Given the description of an element on the screen output the (x, y) to click on. 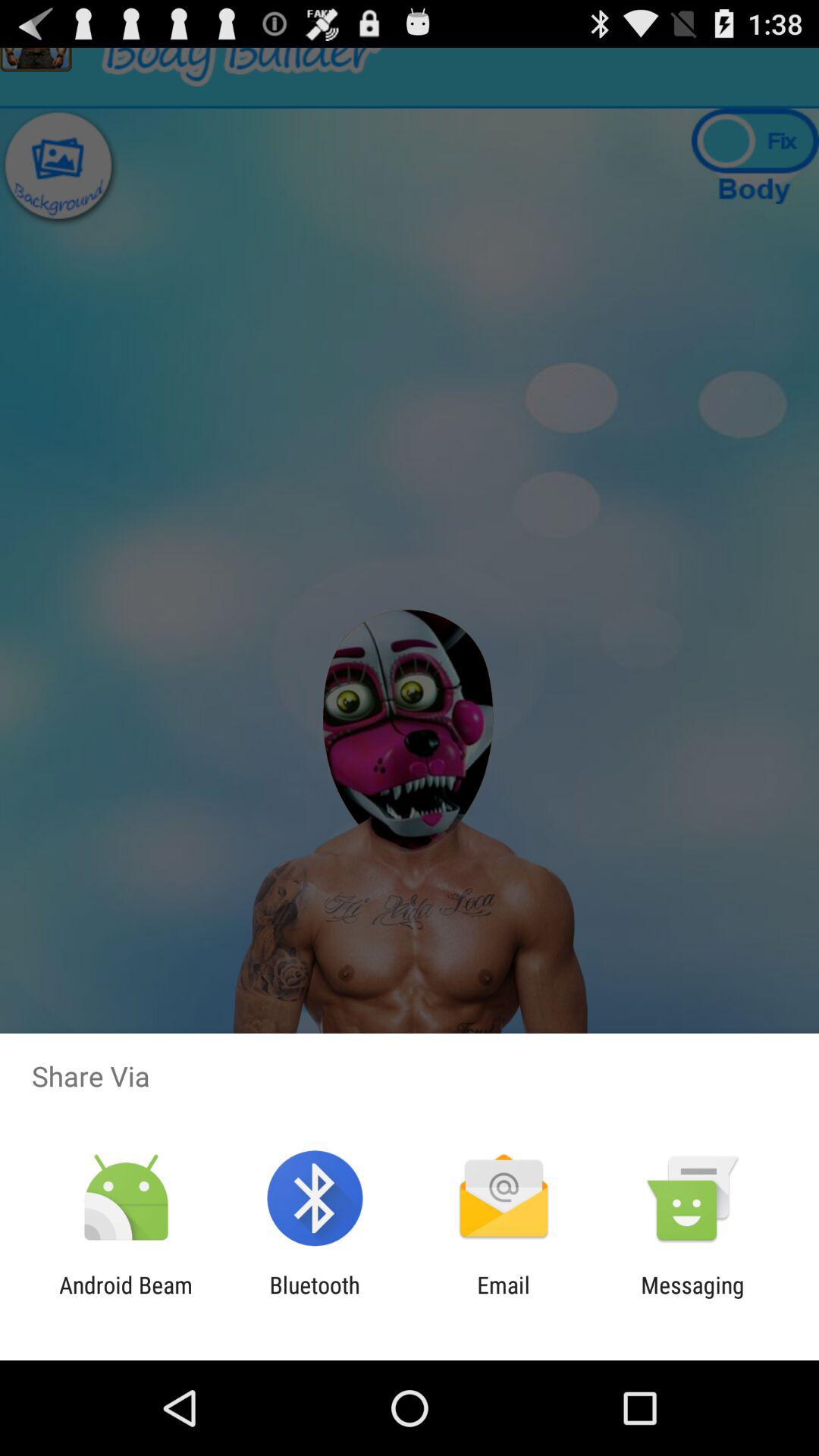
open the item next to the messaging item (503, 1298)
